Given the description of an element on the screen output the (x, y) to click on. 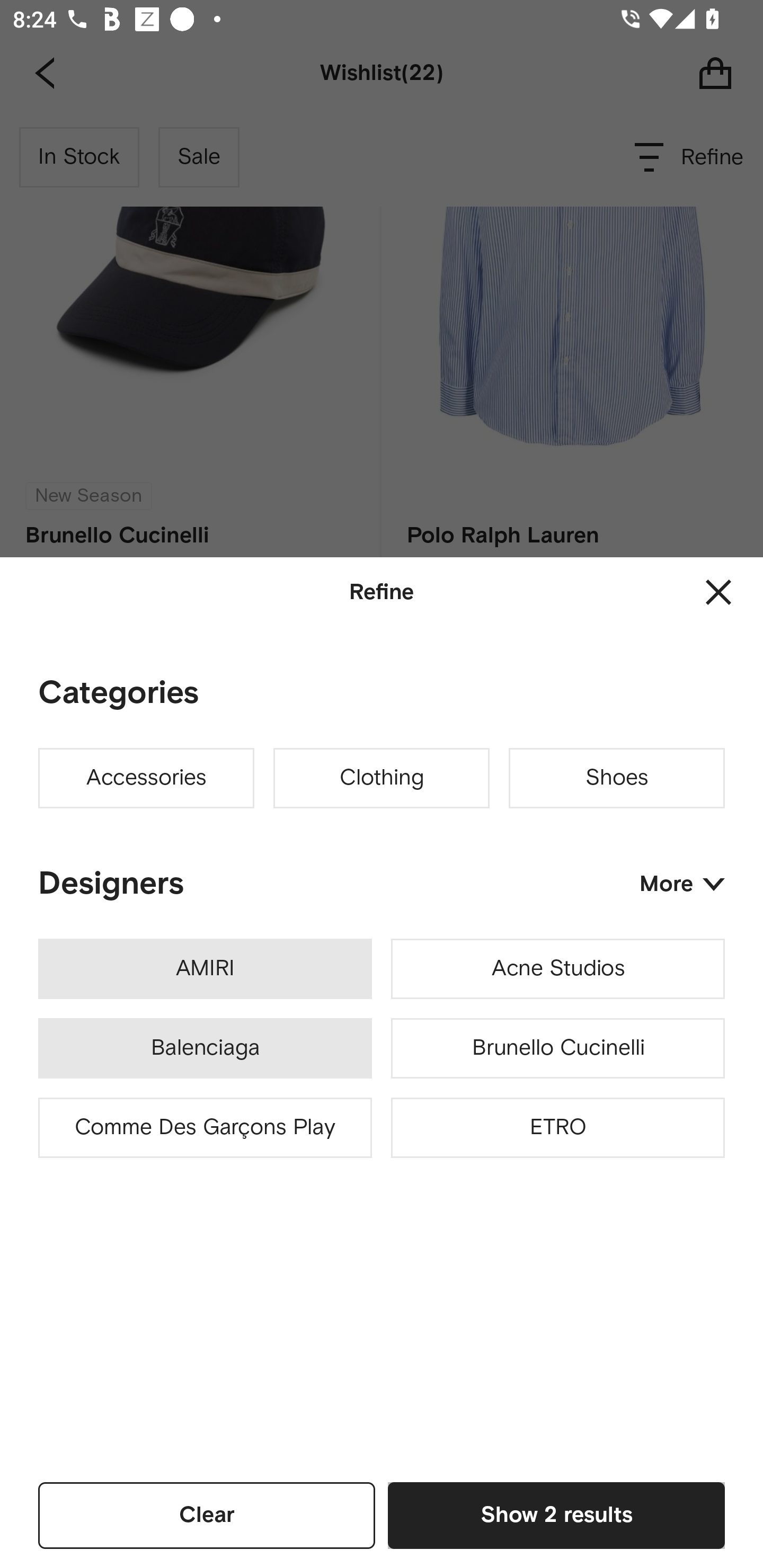
Accessories (146, 778)
Clothing (381, 778)
Shoes (616, 778)
More (681, 884)
AMIRI (205, 968)
Acne Studios (557, 968)
Balenciaga (205, 1047)
Brunello Cucinelli (557, 1047)
Comme Des Garçons Play (205, 1127)
ETRO (557, 1127)
Clear (206, 1515)
Show 2 results (555, 1515)
